Given the description of an element on the screen output the (x, y) to click on. 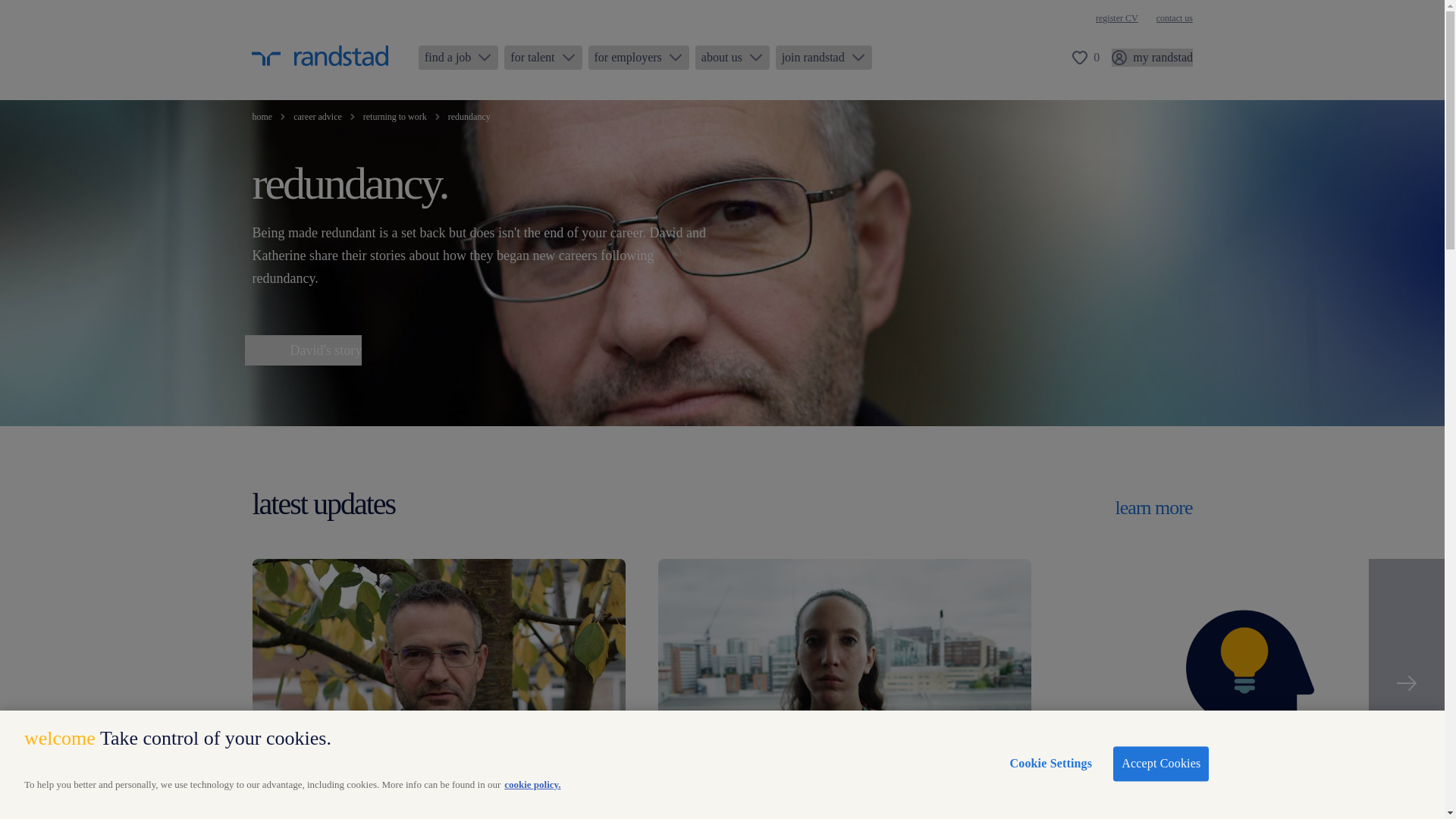
Screenshot at Oct 09 17-18-58.png (844, 682)
for talent (541, 57)
register CV (1117, 18)
webimage-1D150219-DBF5-47D2-B6D418644A739167.png (1248, 682)
header5.jpg (437, 682)
find a job (458, 57)
contact us (1174, 18)
